Given the description of an element on the screen output the (x, y) to click on. 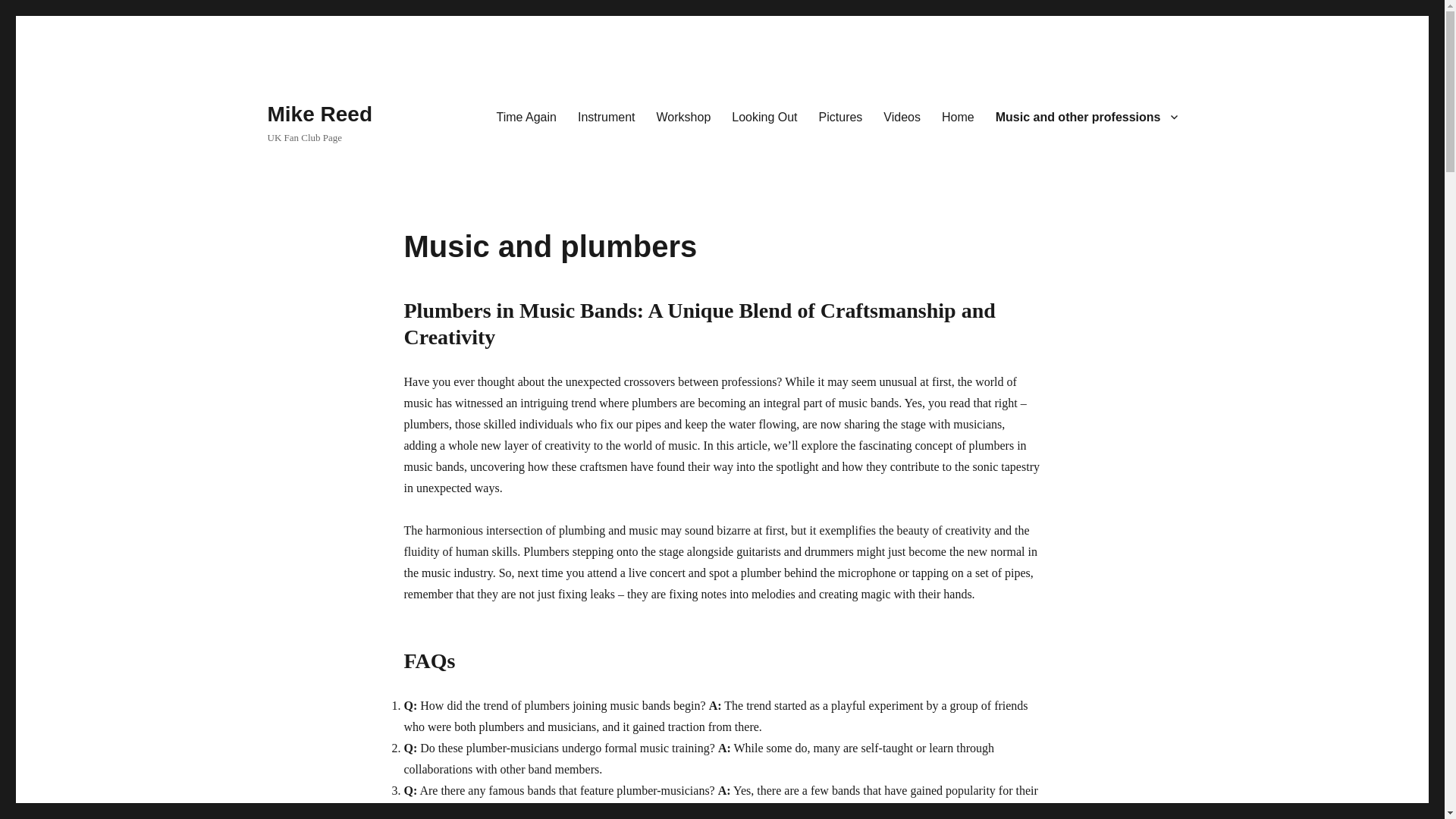
Videos (901, 116)
Music and other professions (1086, 116)
Workshop (684, 116)
Mike Reed (319, 114)
Instrument (606, 116)
Looking Out (764, 116)
Time Again (525, 116)
Pictures (840, 116)
Home (958, 116)
